Given the description of an element on the screen output the (x, y) to click on. 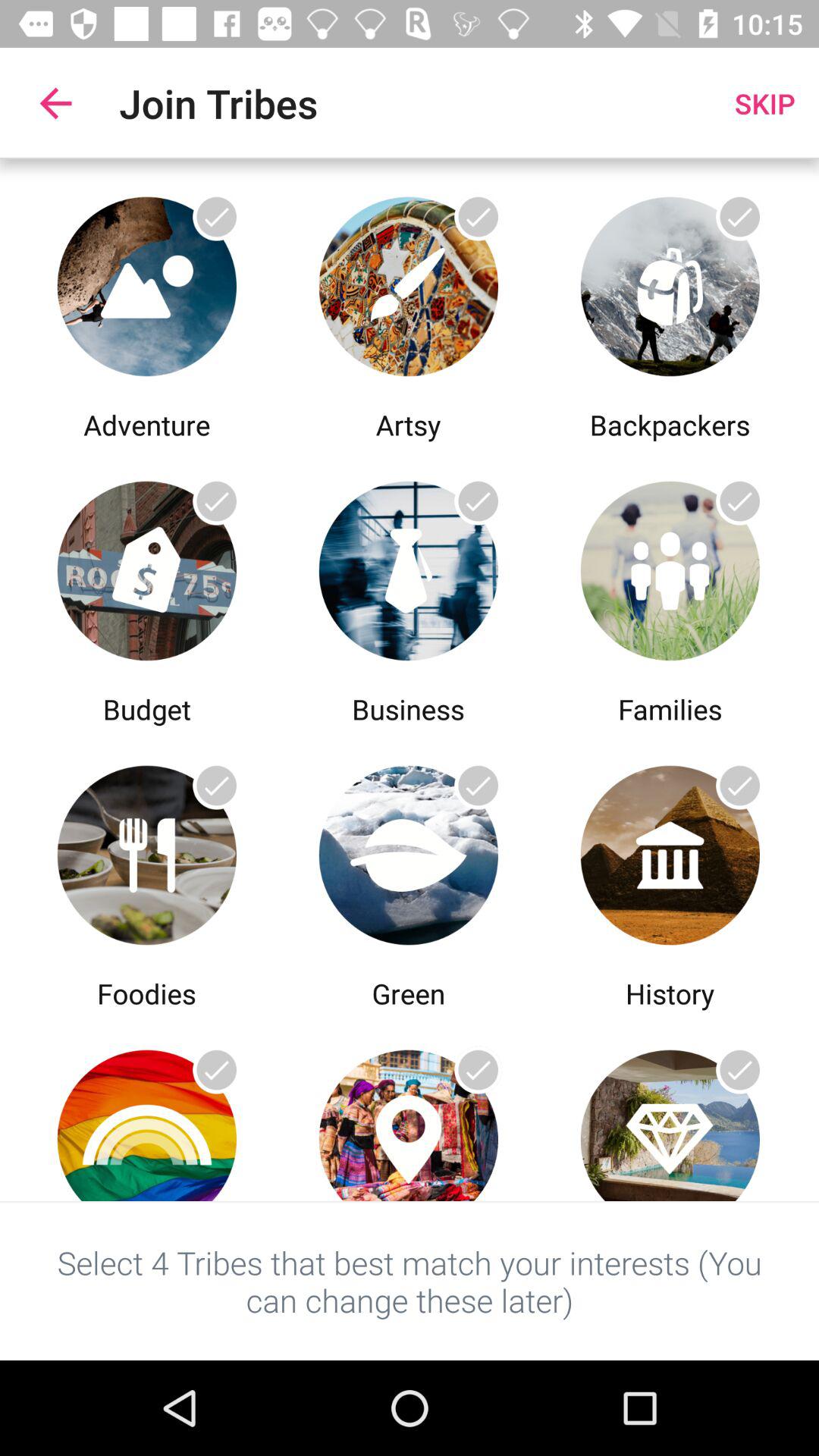
restuarant (146, 851)
